Given the description of an element on the screen output the (x, y) to click on. 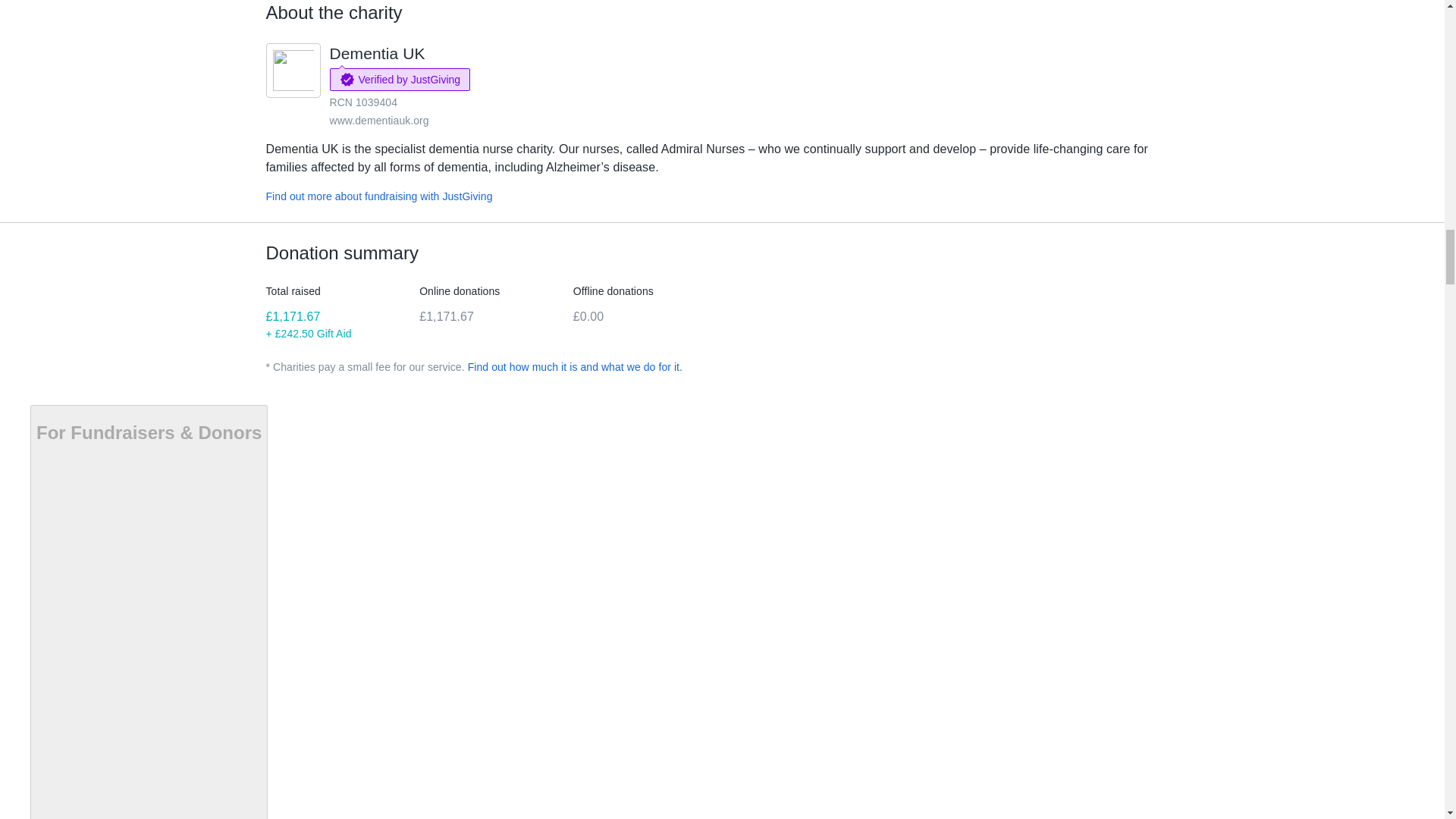
Find out how much it is and what we do for it. (574, 367)
Dementia UK (377, 53)
Find out more about fundraising with JustGiving (378, 196)
www.dementiauk.org (378, 120)
